Given the description of an element on the screen output the (x, y) to click on. 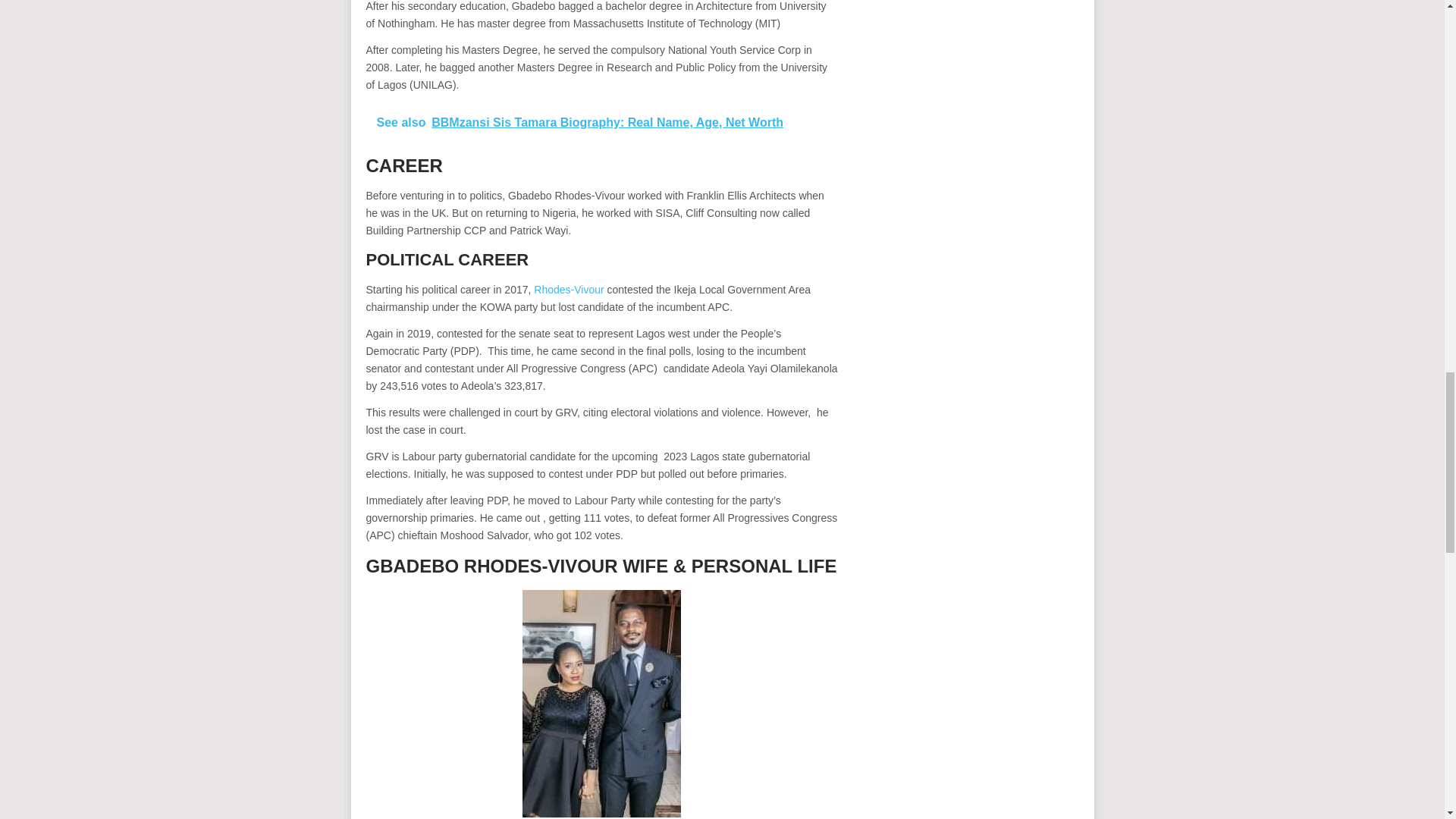
Rhodes-Vivour (569, 289)
